Given the description of an element on the screen output the (x, y) to click on. 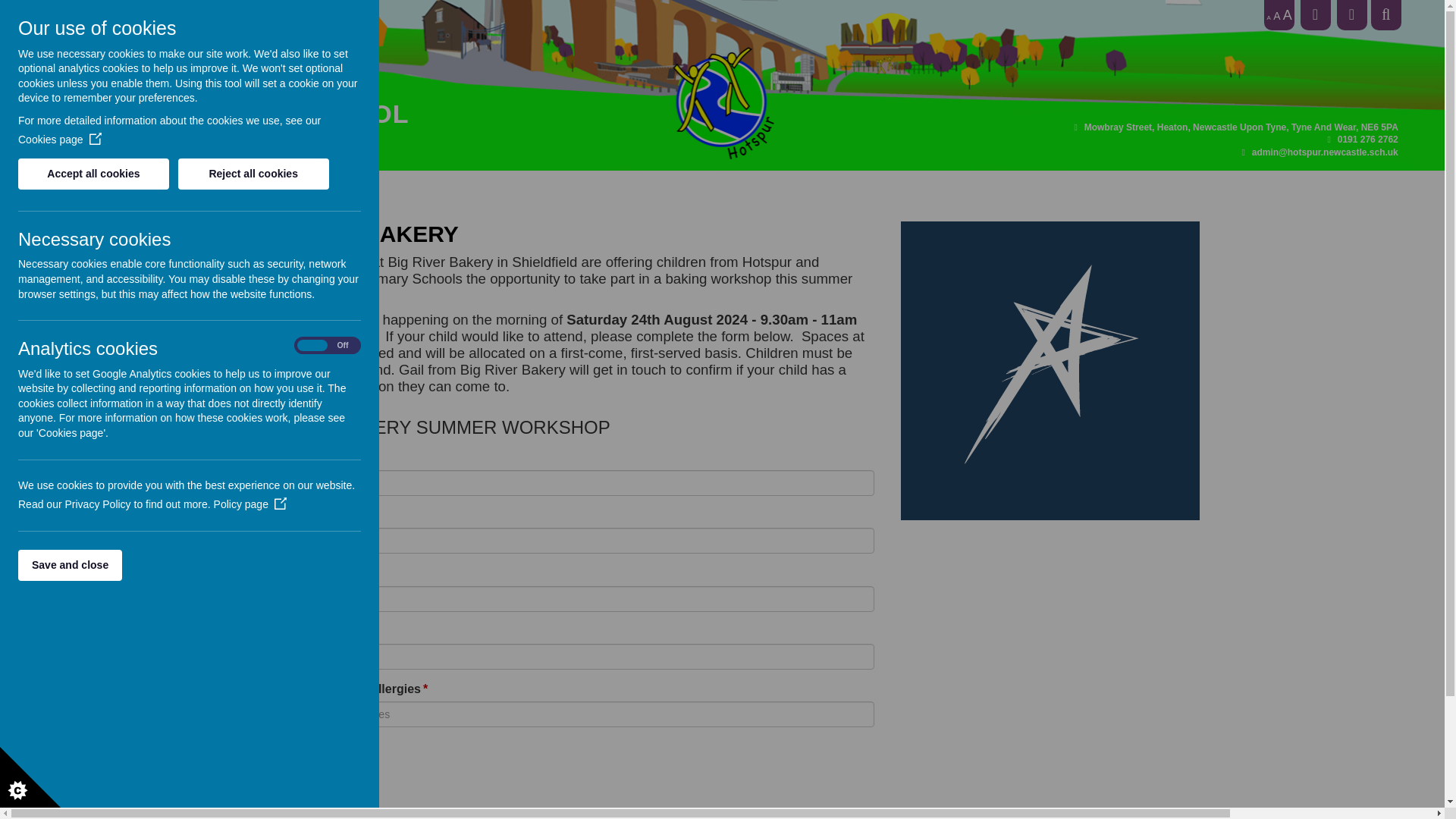
Facebook (1315, 5)
on (327, 345)
Cookie Control Icon (30, 776)
YouTube (1351, 5)
